Given the description of an element on the screen output the (x, y) to click on. 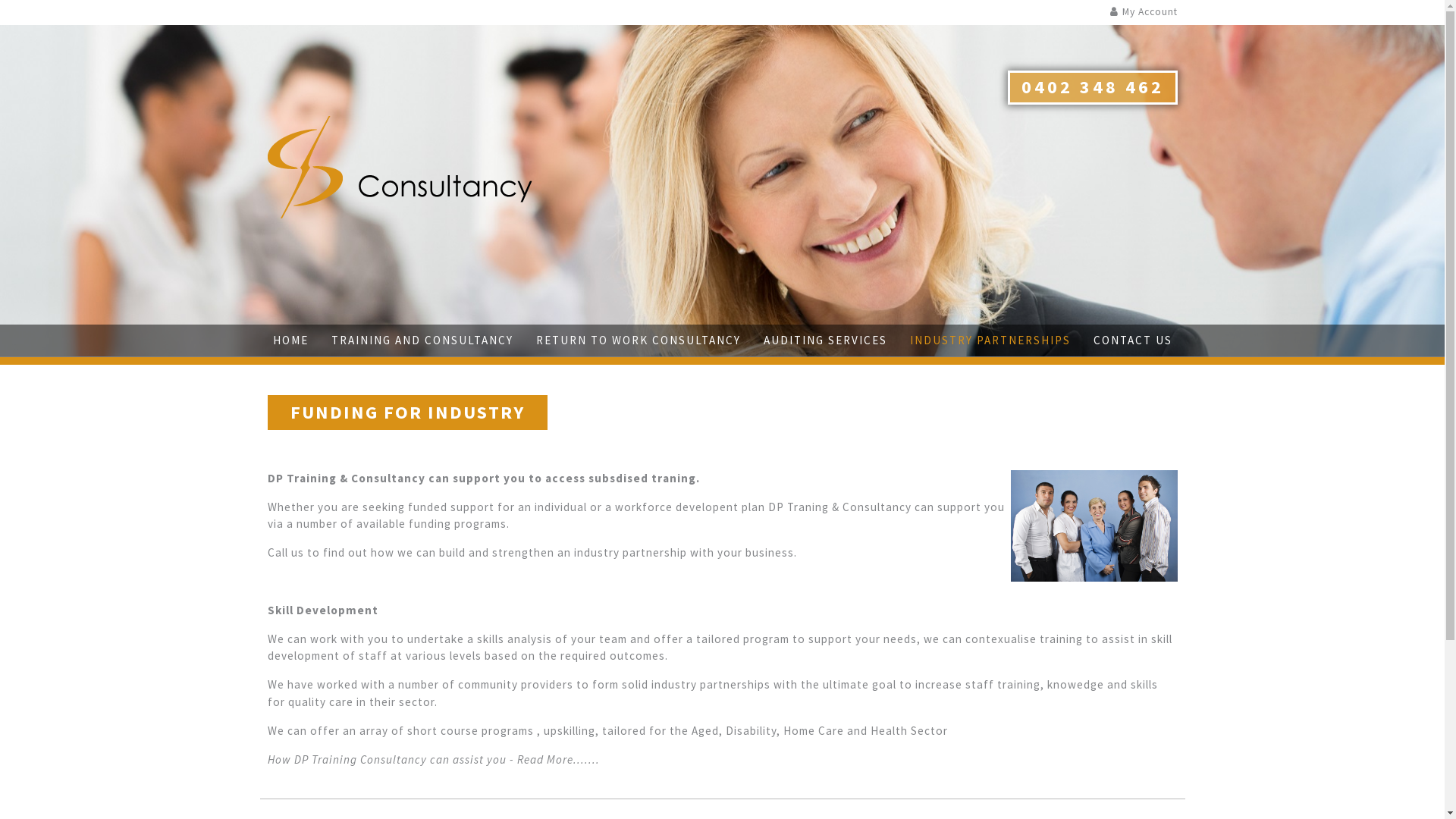
AUDITING SERVICES Element type: text (824, 340)
0402 348 462 Element type: text (1091, 87)
CONTACT US Element type: text (1132, 340)
DP Consultancy Element type: hover (399, 165)
My Account Element type: text (1149, 12)
INDUSTRY PARTNERSHIPS Element type: text (990, 340)
HOME Element type: text (290, 340)
RETURN TO WORK CONSULTANCY Element type: text (637, 340)
TRAINING AND CONSULTANCY Element type: text (421, 340)
